Given the description of an element on the screen output the (x, y) to click on. 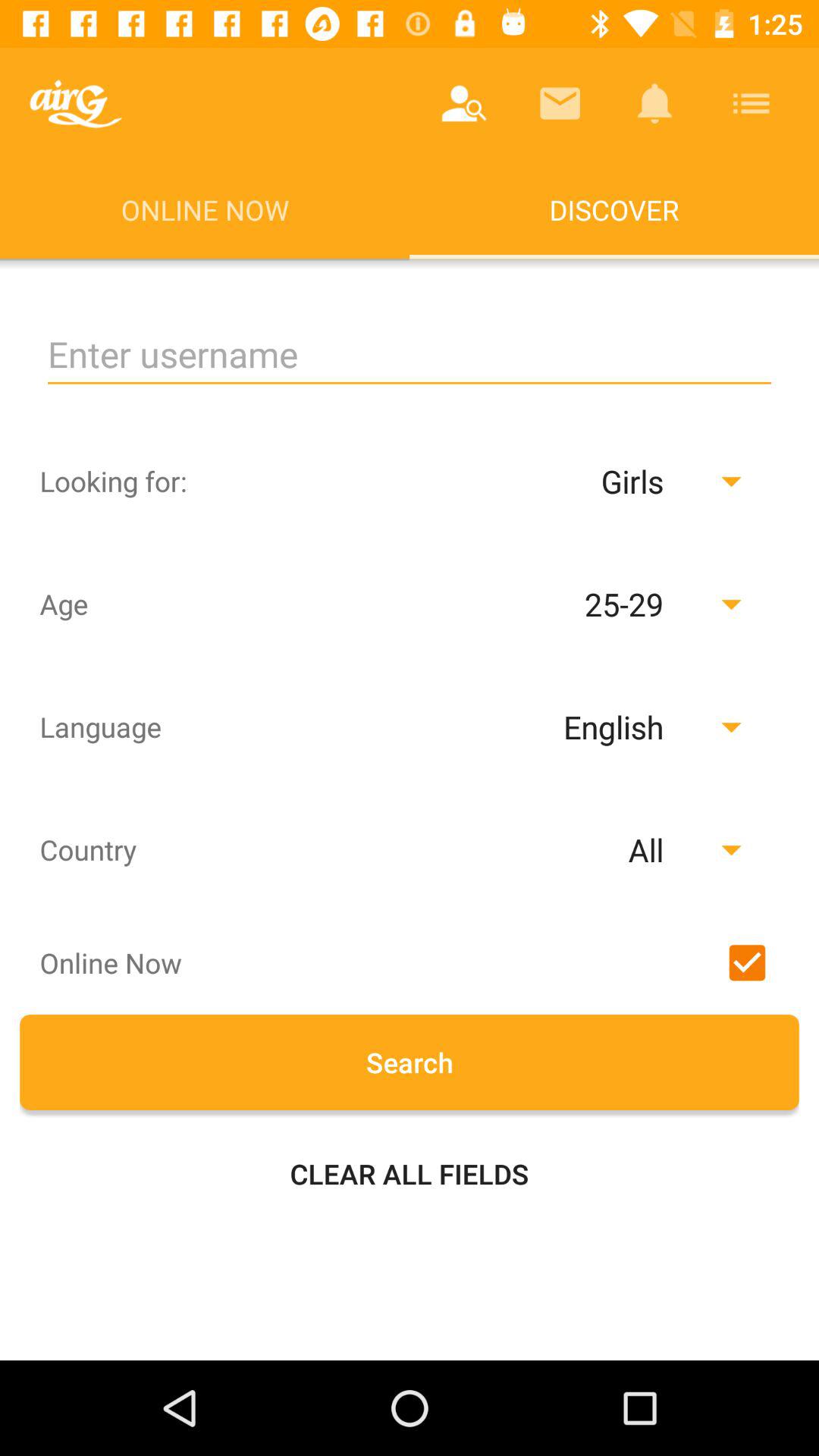
open item to the right of online now item (464, 103)
